Given the description of an element on the screen output the (x, y) to click on. 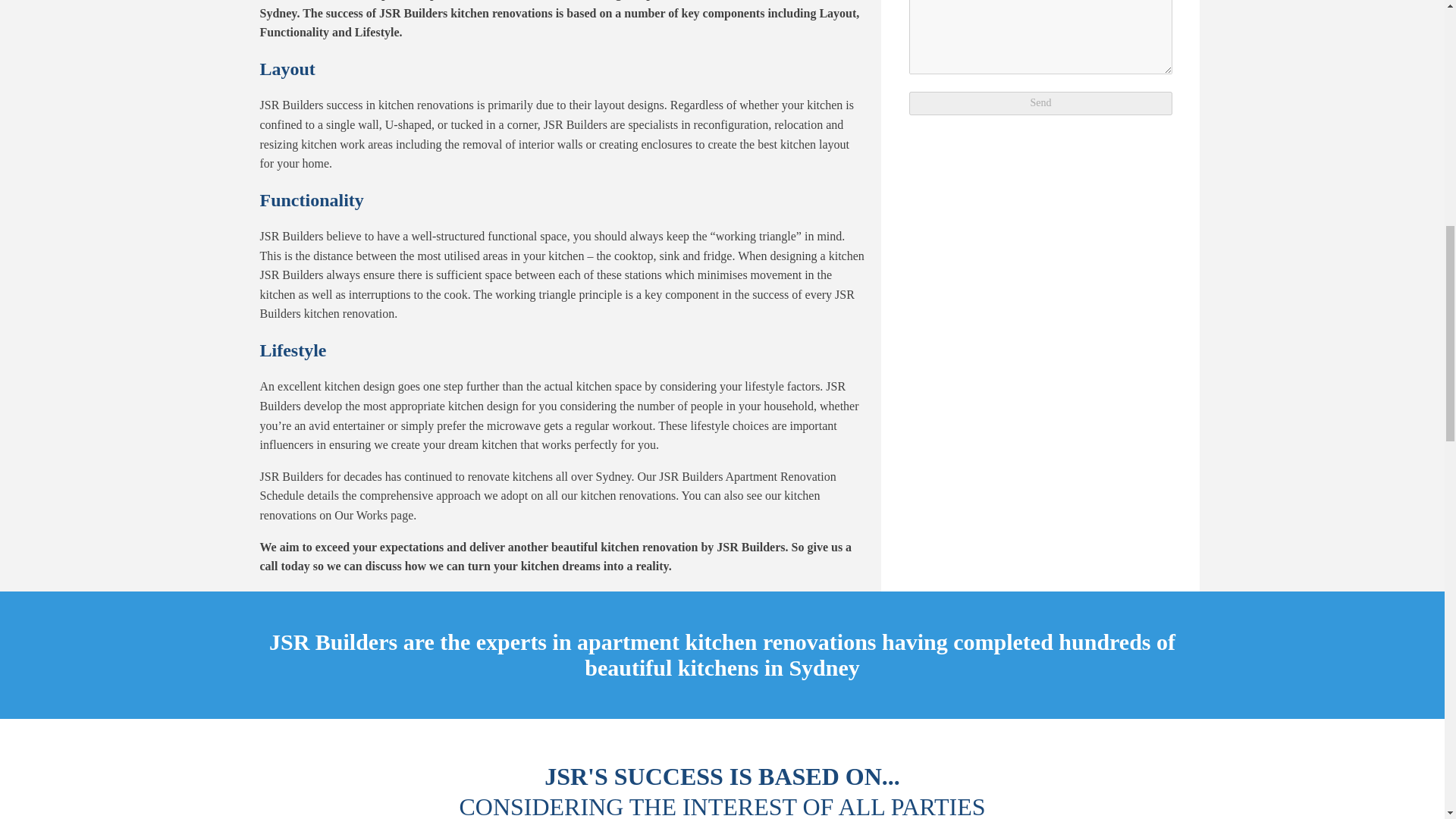
Send (1040, 102)
Send (1040, 102)
